Given the description of an element on the screen output the (x, y) to click on. 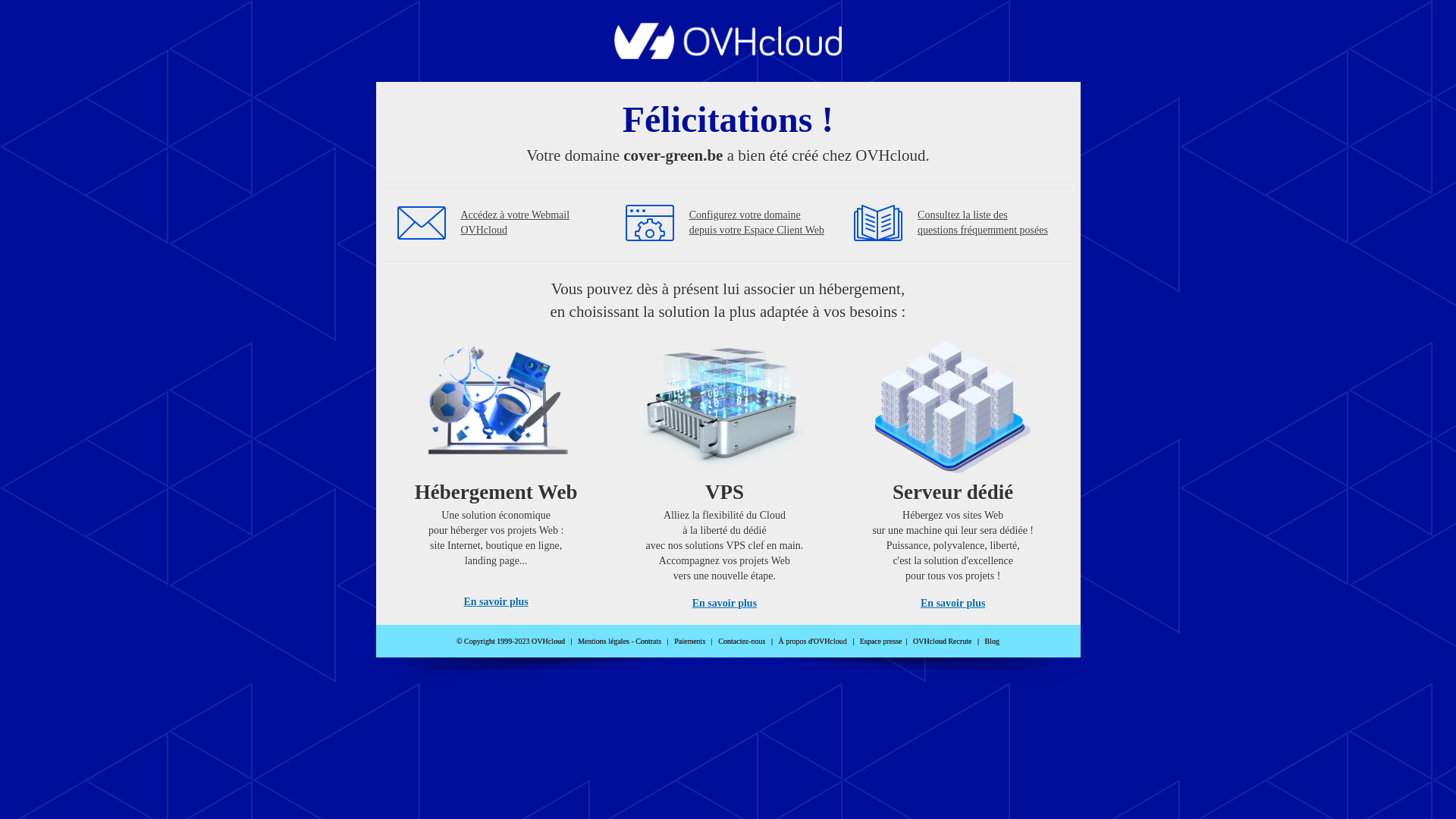
En savoir plus Element type: text (724, 602)
VPS Element type: hover (724, 469)
Configurez votre domaine
depuis votre Espace Client Web Element type: text (756, 222)
Contactez-nous Element type: text (741, 641)
OVHcloud Recrute Element type: text (942, 641)
OVHcloud Element type: hover (727, 54)
Blog Element type: text (992, 641)
En savoir plus Element type: text (495, 601)
En savoir plus Element type: text (952, 602)
Espace presse Element type: text (880, 641)
Paiements Element type: text (689, 641)
